Given the description of an element on the screen output the (x, y) to click on. 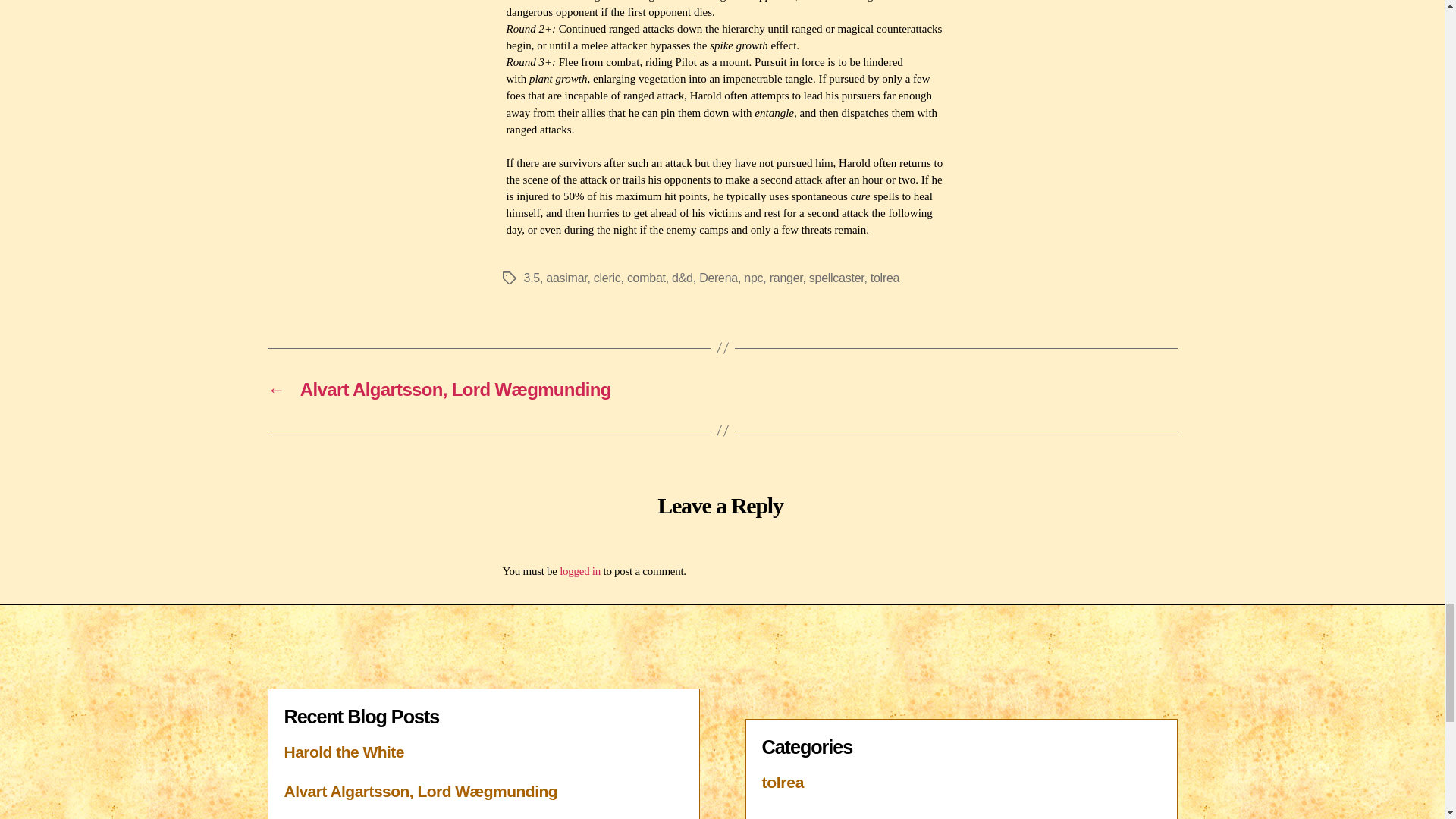
Derena (718, 277)
tolrea (884, 277)
3.5 (530, 277)
combat (646, 277)
logged in (579, 571)
npc (753, 277)
Harold the White (343, 751)
ranger (786, 277)
aasimar (566, 277)
cleric (607, 277)
spellcaster (836, 277)
